Given the description of an element on the screen output the (x, y) to click on. 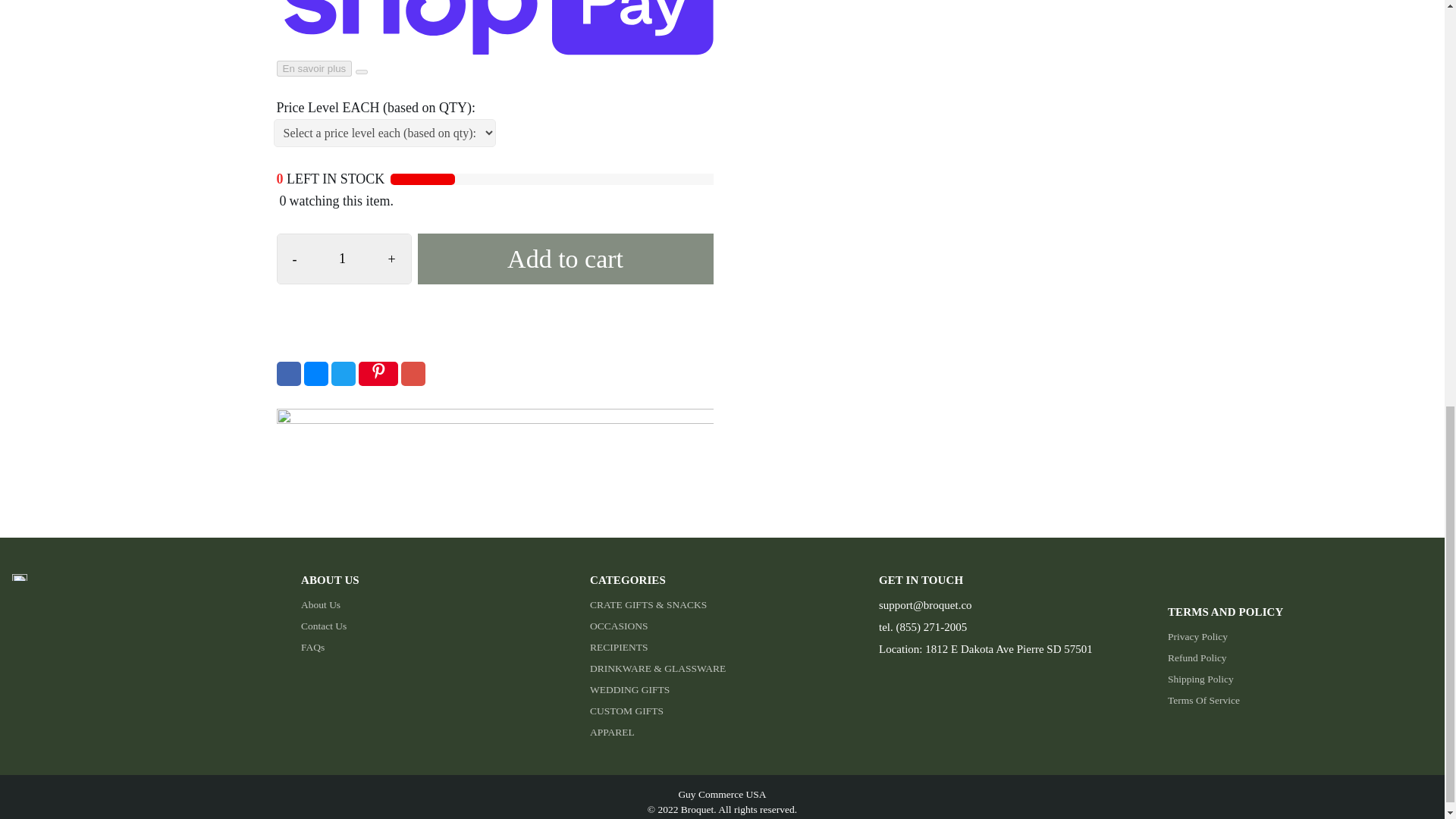
1 (342, 258)
